Given the description of an element on the screen output the (x, y) to click on. 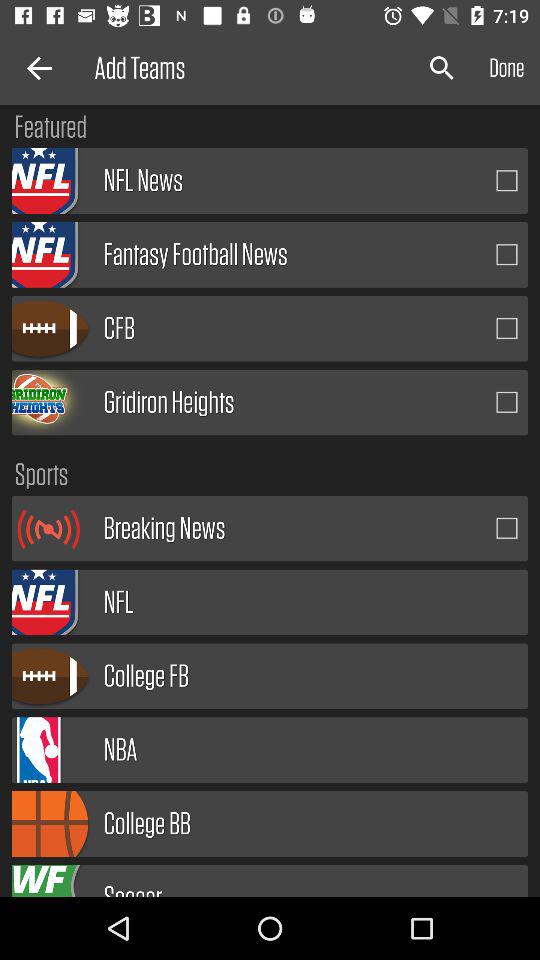
select to get breaking news added to your feed (507, 528)
